Given the description of an element on the screen output the (x, y) to click on. 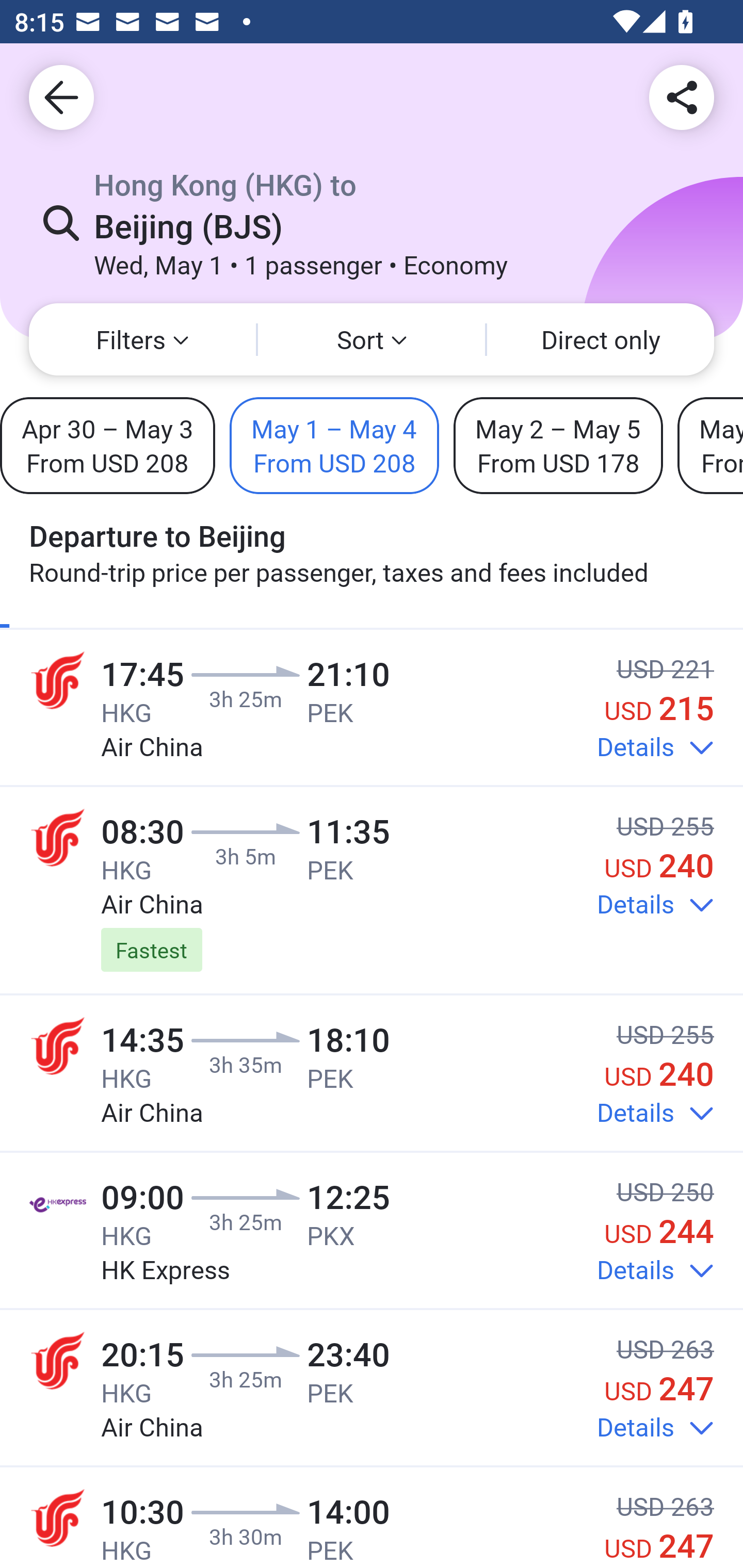
Filters (141, 339)
Sort (371, 339)
Direct only (600, 339)
Apr 30 – May 3 From USD 208 (107, 444)
May 1 – May 4 From USD 208 (334, 444)
May 2 – May 5 From USD 178 (557, 444)
